Given the description of an element on the screen output the (x, y) to click on. 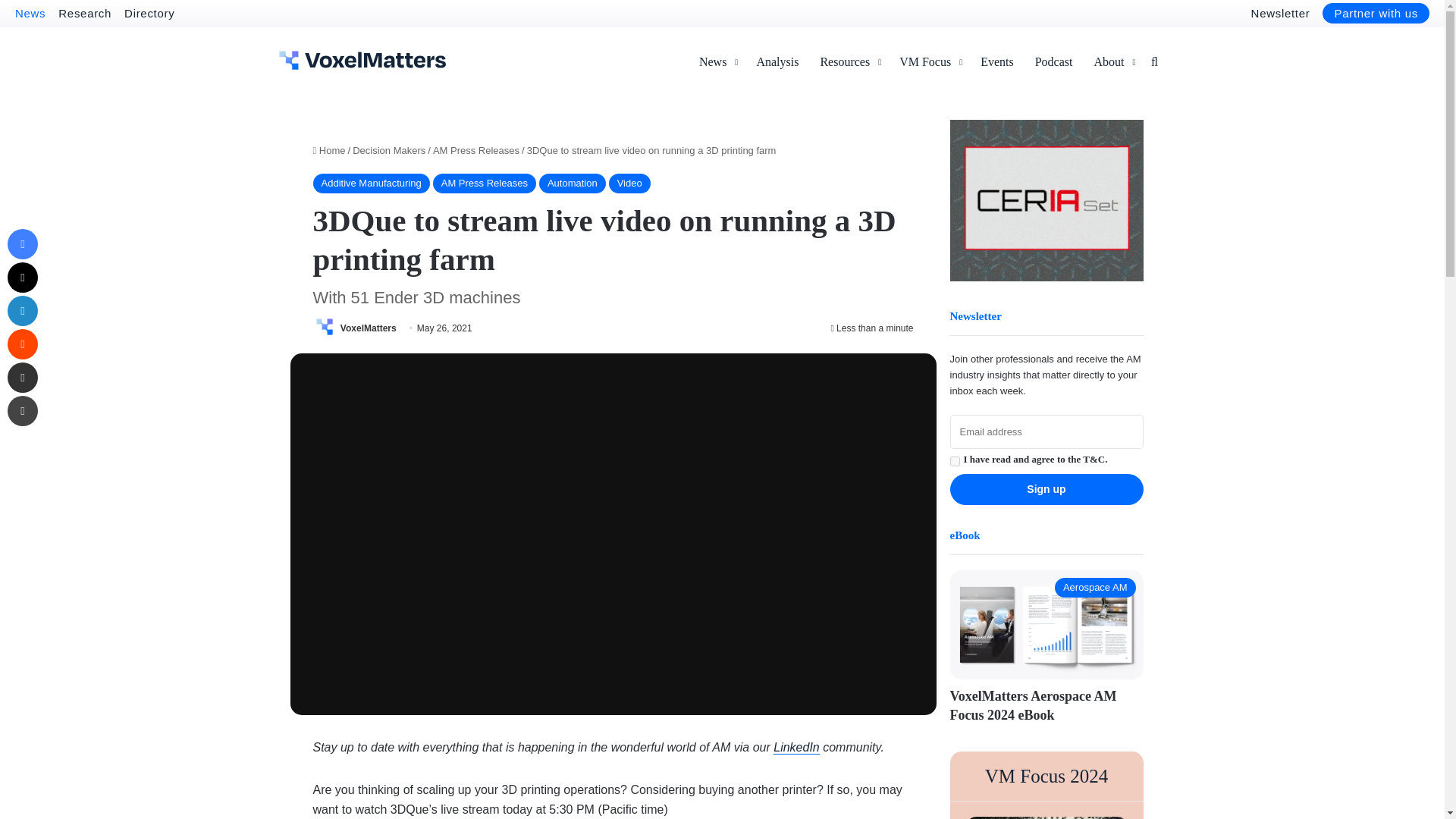
X (22, 277)
Directory (148, 12)
Facebook (22, 244)
LinkedIn (22, 310)
News (716, 62)
1 (954, 461)
Newsletter (1280, 12)
Analysis (777, 62)
Sign up (1045, 489)
News (29, 12)
Resources (848, 62)
Research (85, 12)
VoxelMatters (368, 327)
Partner with us (1375, 13)
Share via Email (22, 377)
